Given the description of an element on the screen output the (x, y) to click on. 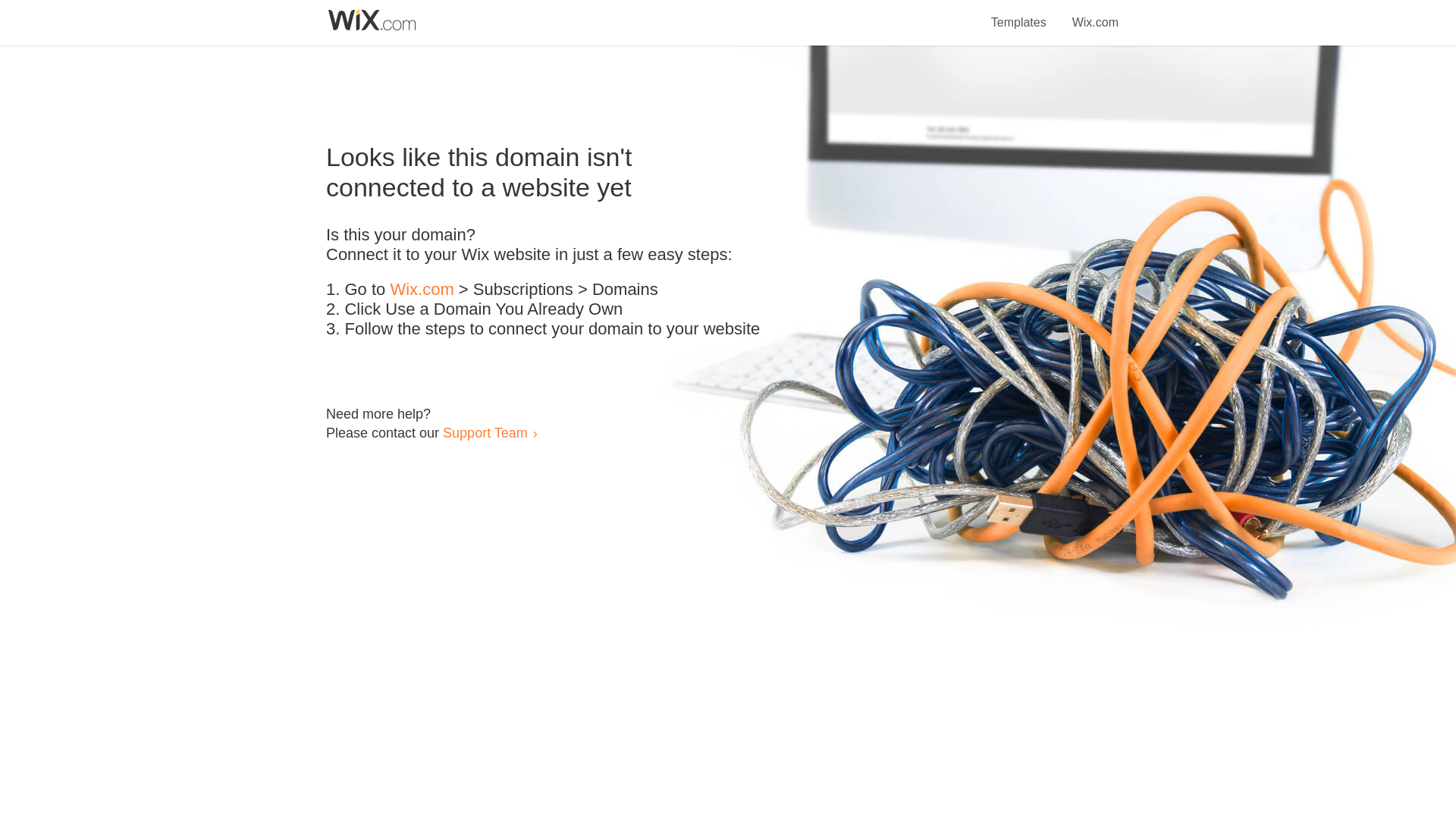
Wix.com (421, 289)
Templates (1018, 14)
Support Team (484, 432)
Wix.com (1095, 14)
